Given the description of an element on the screen output the (x, y) to click on. 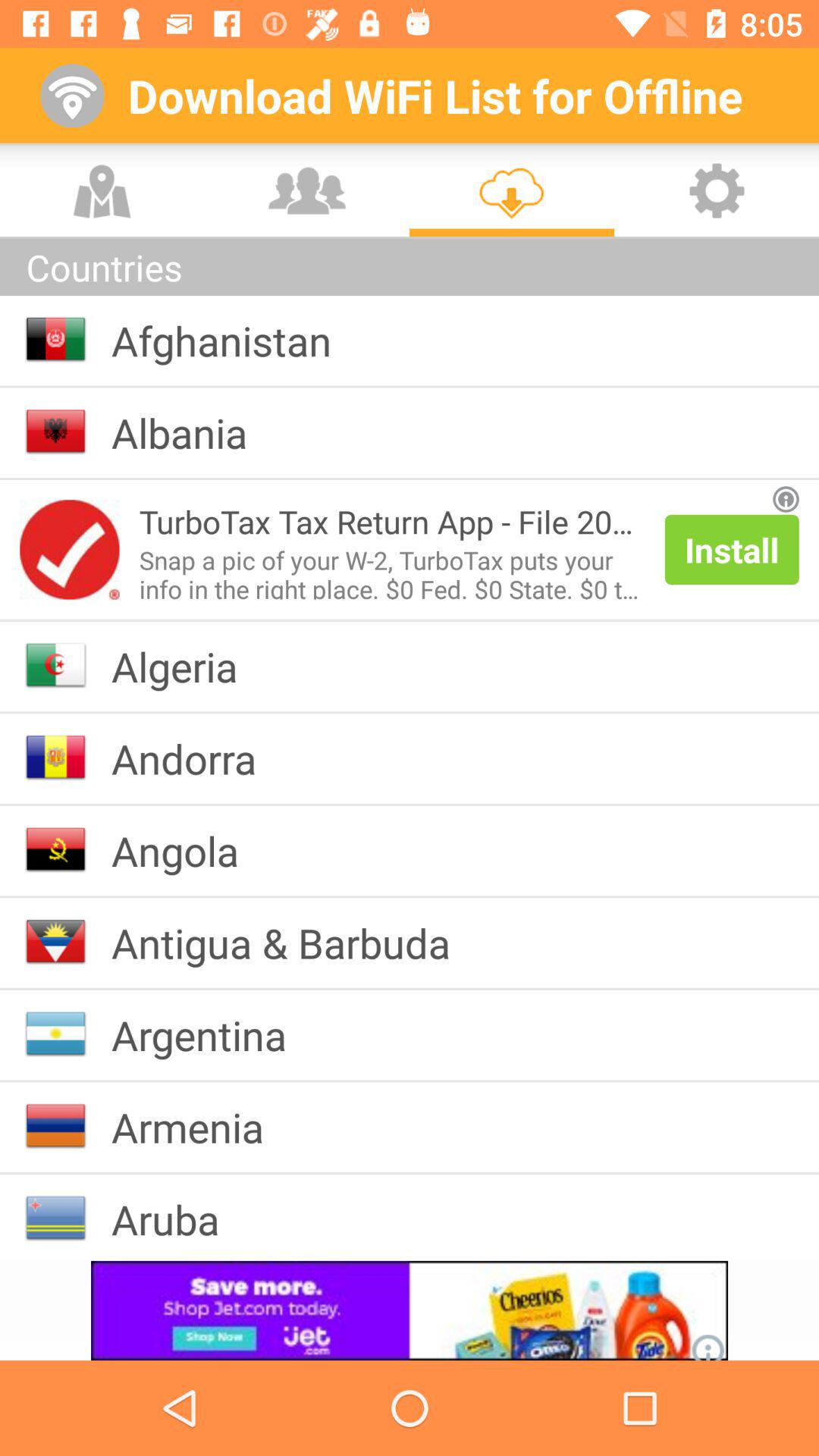
tap app above armenia (210, 1034)
